Given the description of an element on the screen output the (x, y) to click on. 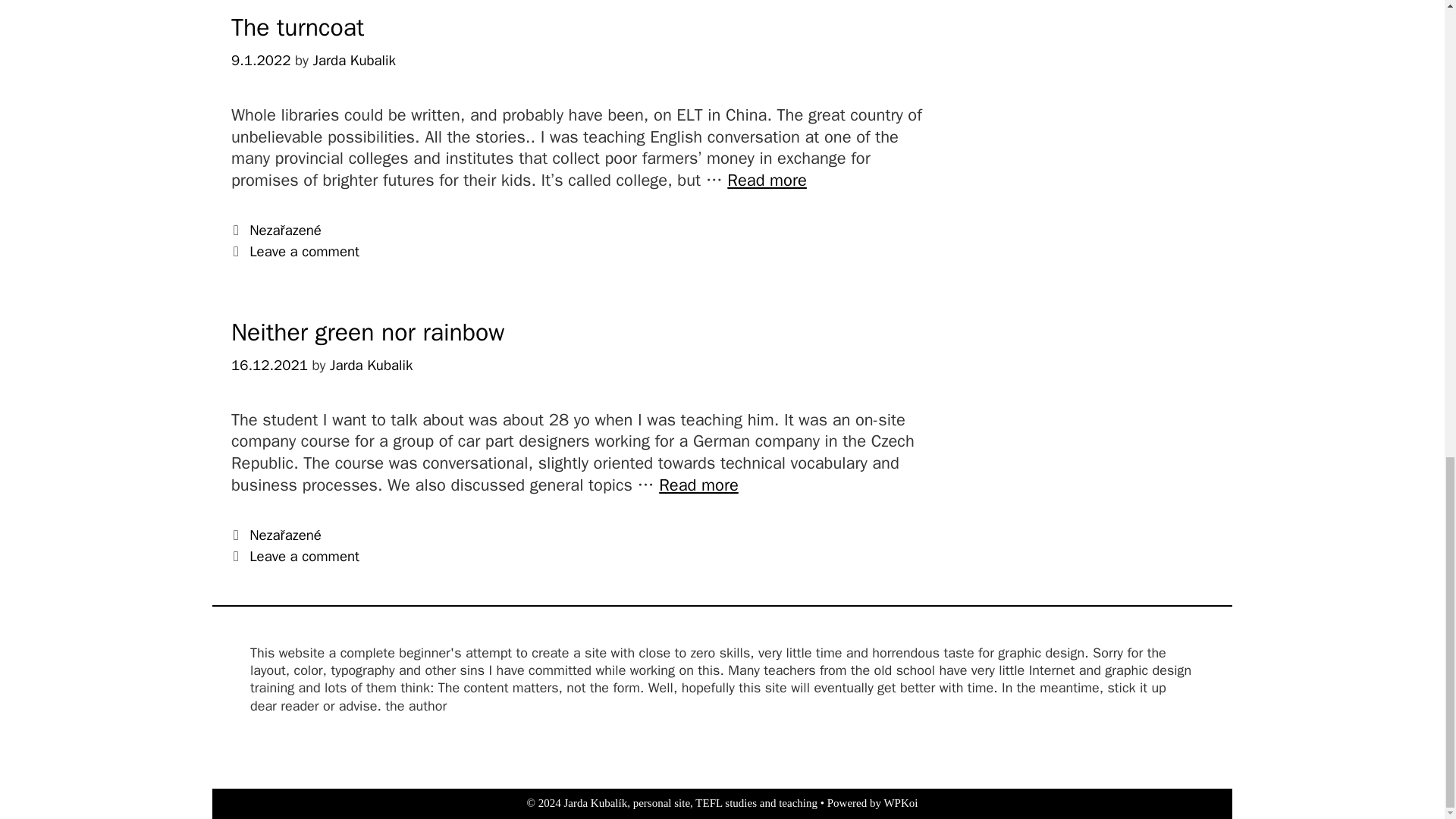
View all posts by Jarda Kubalik (354, 60)
Leave a comment (303, 251)
22.59 (269, 365)
16.12.2021 (269, 365)
Leave a comment (303, 556)
View all posts by Jarda Kubalik (766, 179)
9.1.2022 (371, 365)
The turncoat (260, 60)
Jarda Kubalik (766, 179)
20.27 (698, 485)
Jarda Kubalik (371, 365)
The turncoat (260, 60)
Neither green nor rainbow (354, 60)
